Given the description of an element on the screen output the (x, y) to click on. 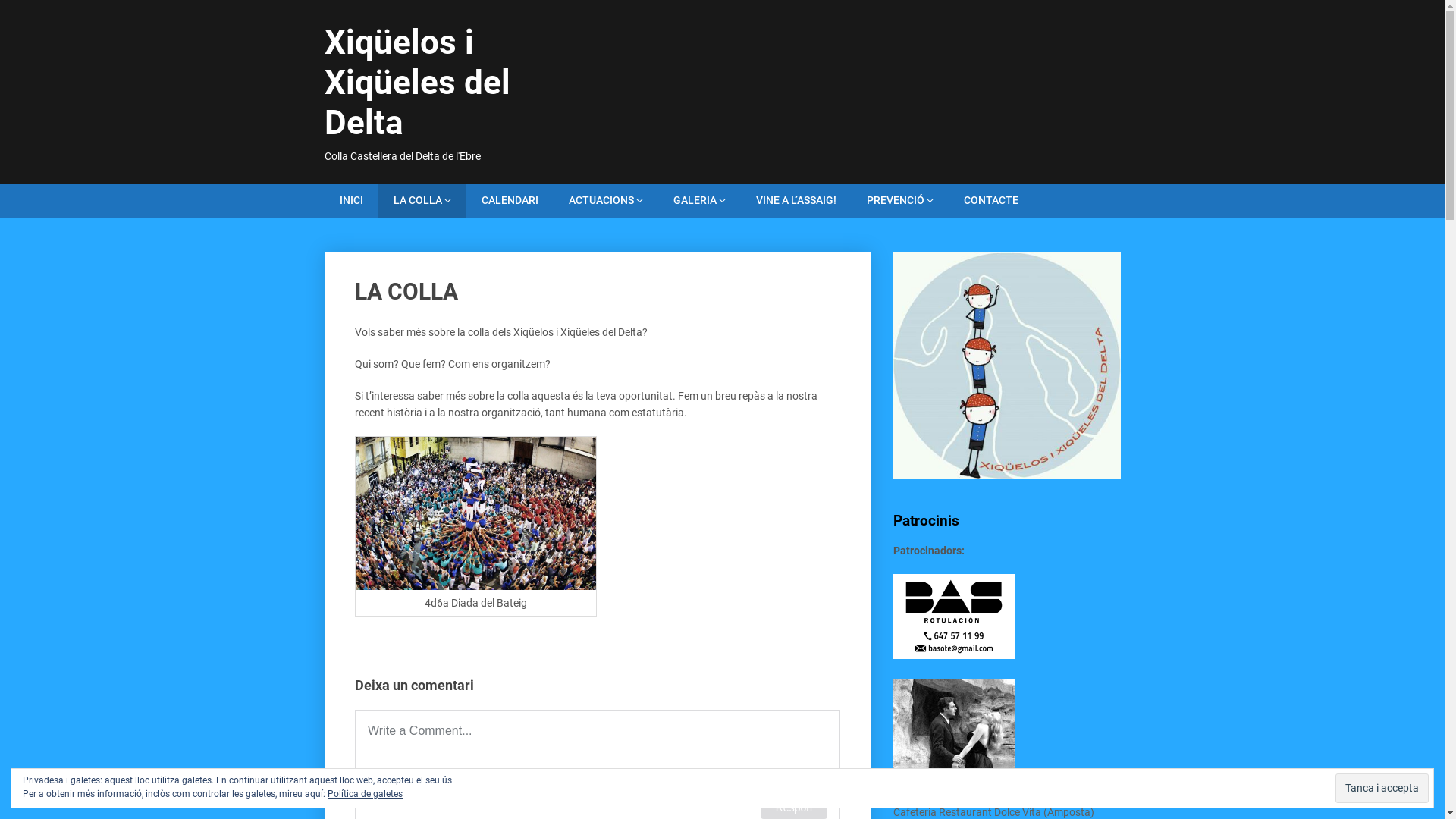
LA COLLA Element type: text (421, 200)
Cafeteria Restaurant Dolce Vita (Amposta) Element type: text (993, 804)
CALENDARI Element type: text (508, 200)
INICI Element type: text (351, 200)
CONTACTE Element type: text (989, 200)
GALERIA Element type: text (699, 200)
ACTUACIONS Element type: text (605, 200)
Tanca i accepta Element type: text (1381, 788)
